Given the description of an element on the screen output the (x, y) to click on. 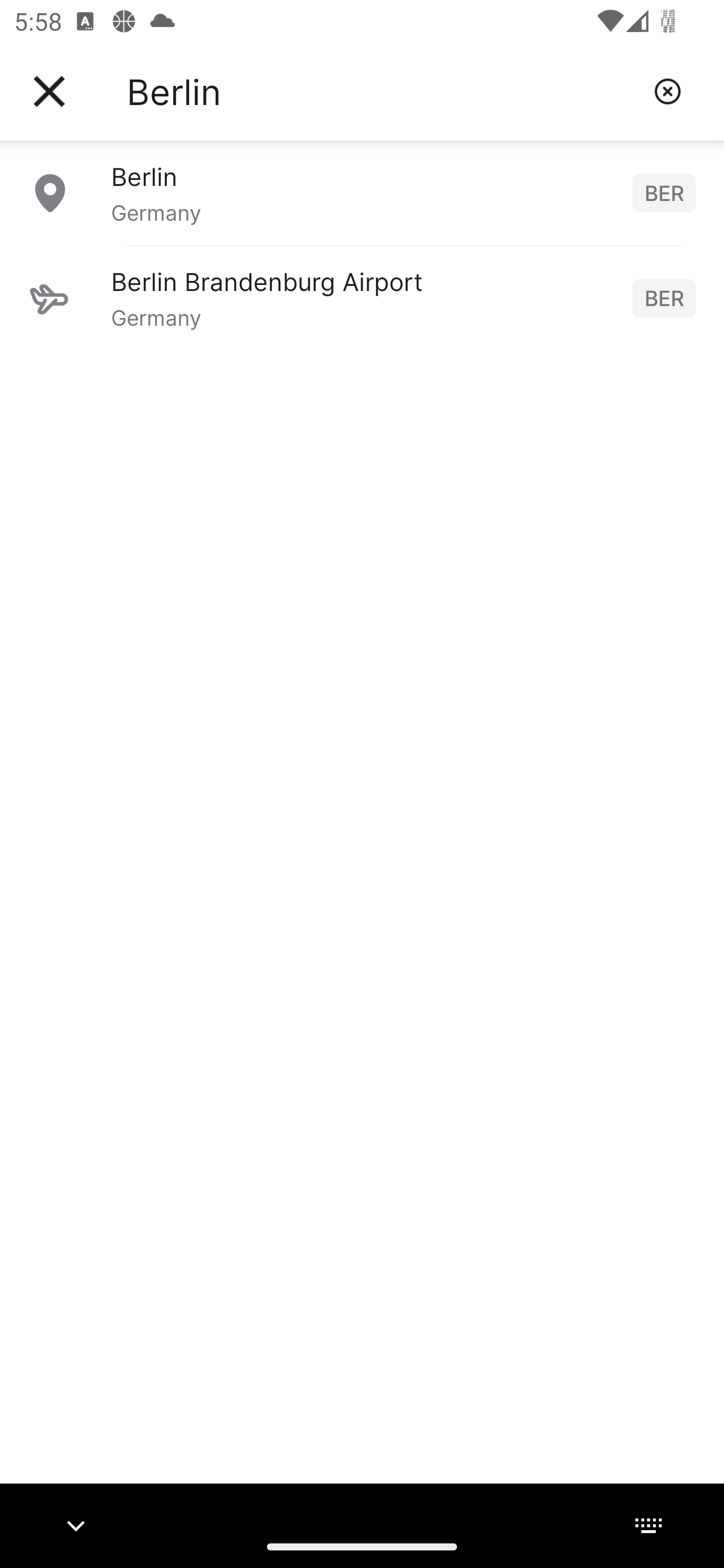
Berlin (382, 91)
Berlin Germany BER (362, 192)
Berlin Brandenburg Airport Germany BER (362, 297)
